Given the description of an element on the screen output the (x, y) to click on. 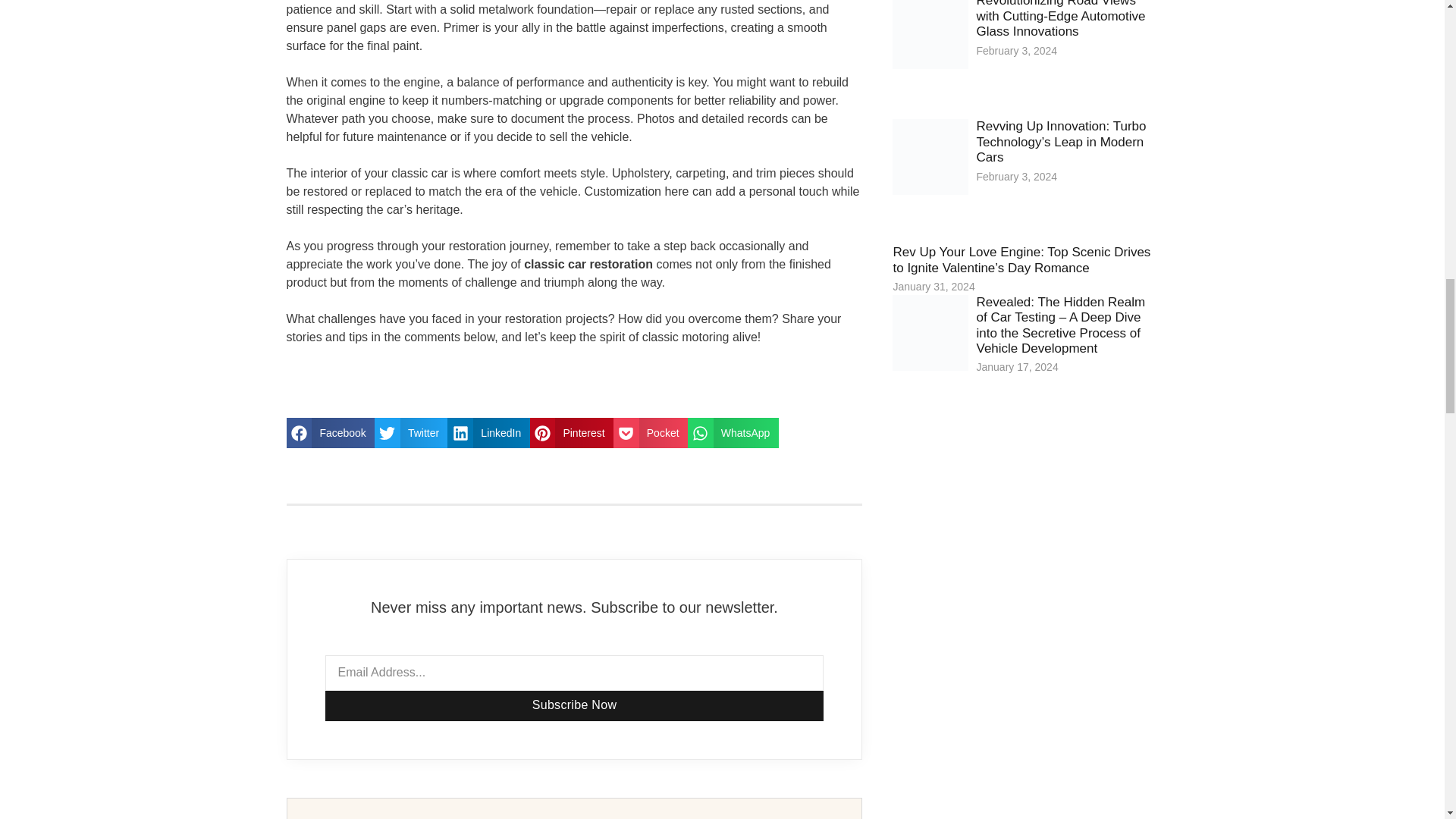
Subscribe Now (574, 706)
